Given the description of an element on the screen output the (x, y) to click on. 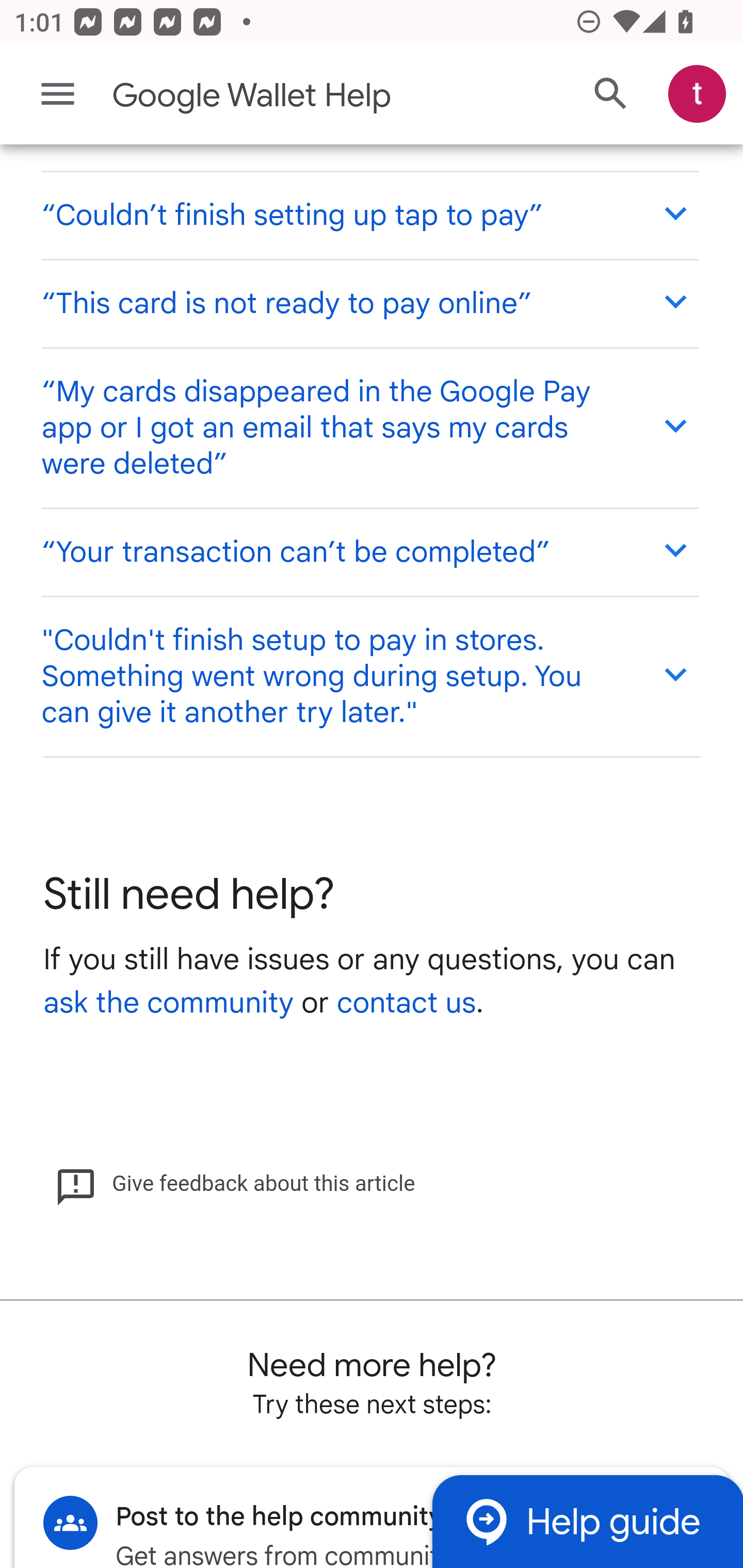
Main menu (58, 93)
Google Wallet Help (292, 96)
Search Help Center (611, 94)
“Couldn’t finish setting up tap to pay” (369, 214)
“This card is not ready to pay online” (369, 302)
“Your transaction can’t be completed” (369, 551)
ask the community (168, 1004)
contact us (406, 1004)
Give feedback about this article (235, 1184)
Help guide (587, 1520)
